Given the description of an element on the screen output the (x, y) to click on. 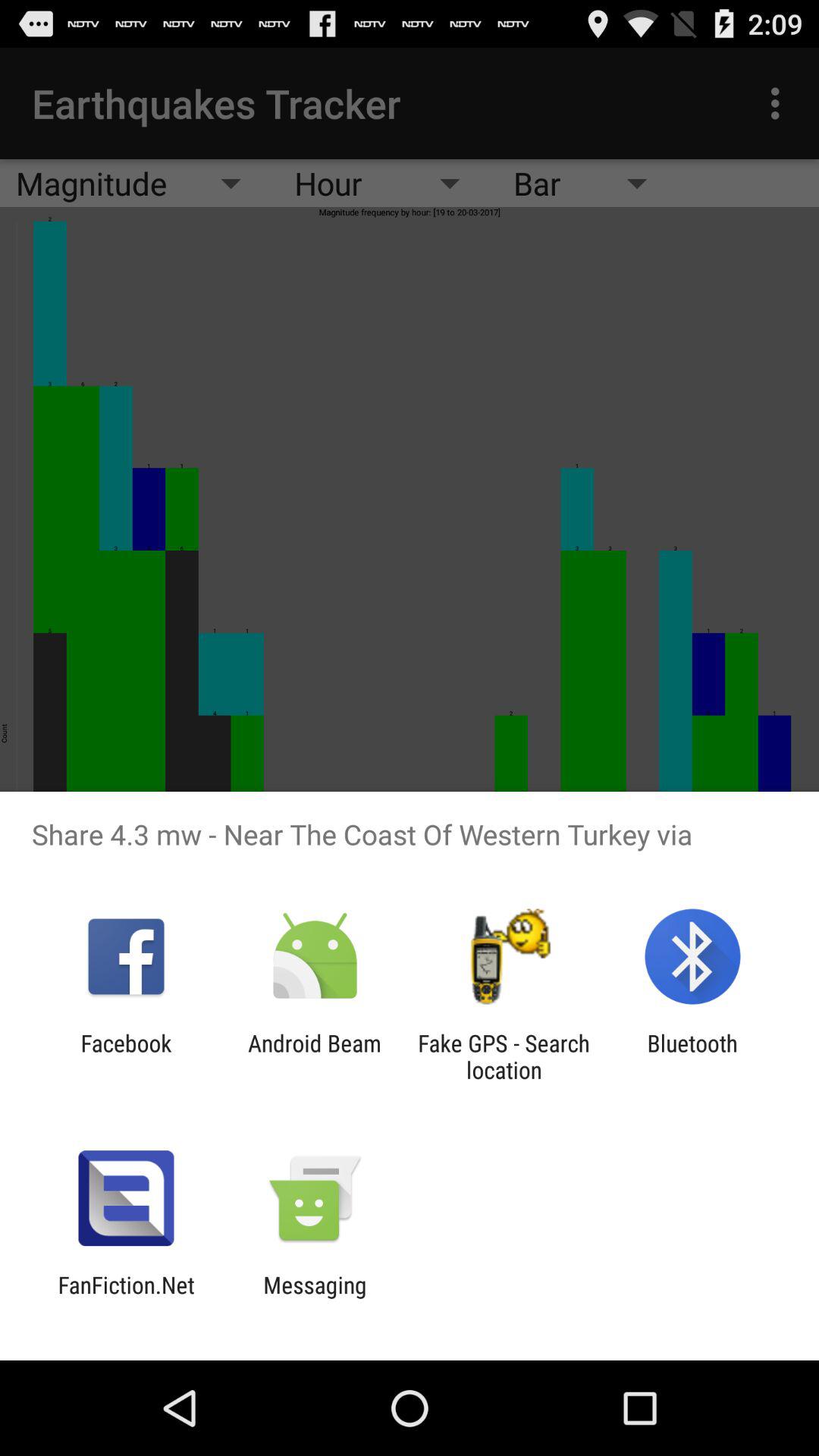
press the app next to bluetooth item (503, 1056)
